Given the description of an element on the screen output the (x, y) to click on. 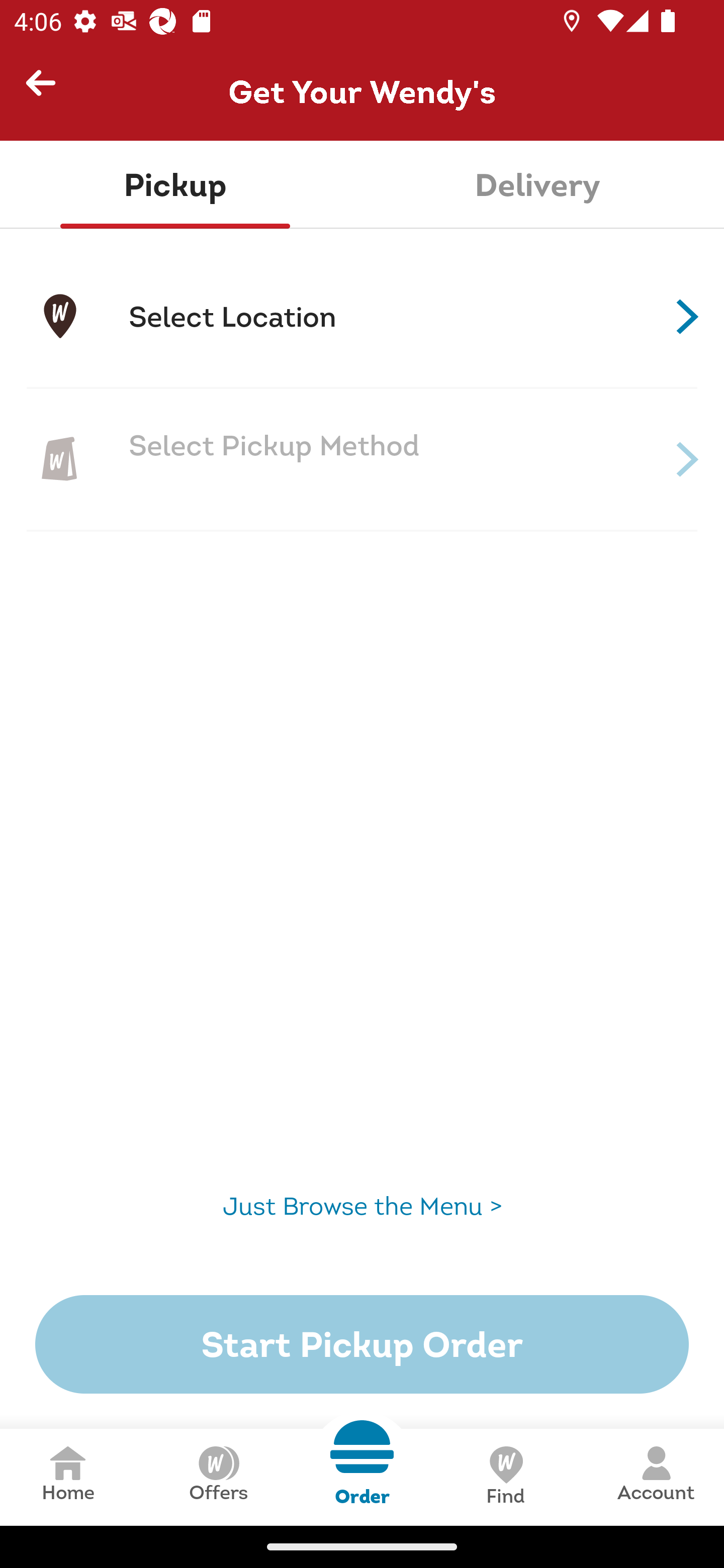
Back (49, 91)
Pickup (175, 184)
Delivery (537, 184)
Select Location (362, 316)
Select Pickup Method (362, 458)
Just Browse the Menu > Just Browse the Menu (362, 1206)
Start Pickup Order (361, 1344)
Order,3 of 5 Order (361, 1463)
Home,1 of 5 Home (68, 1476)
Rewards,2 of 5 Offers Offers (218, 1476)
Scan,4 of 5 Find Find (505, 1476)
Account,5 of 5 Account (655, 1476)
